Given the description of an element on the screen output the (x, y) to click on. 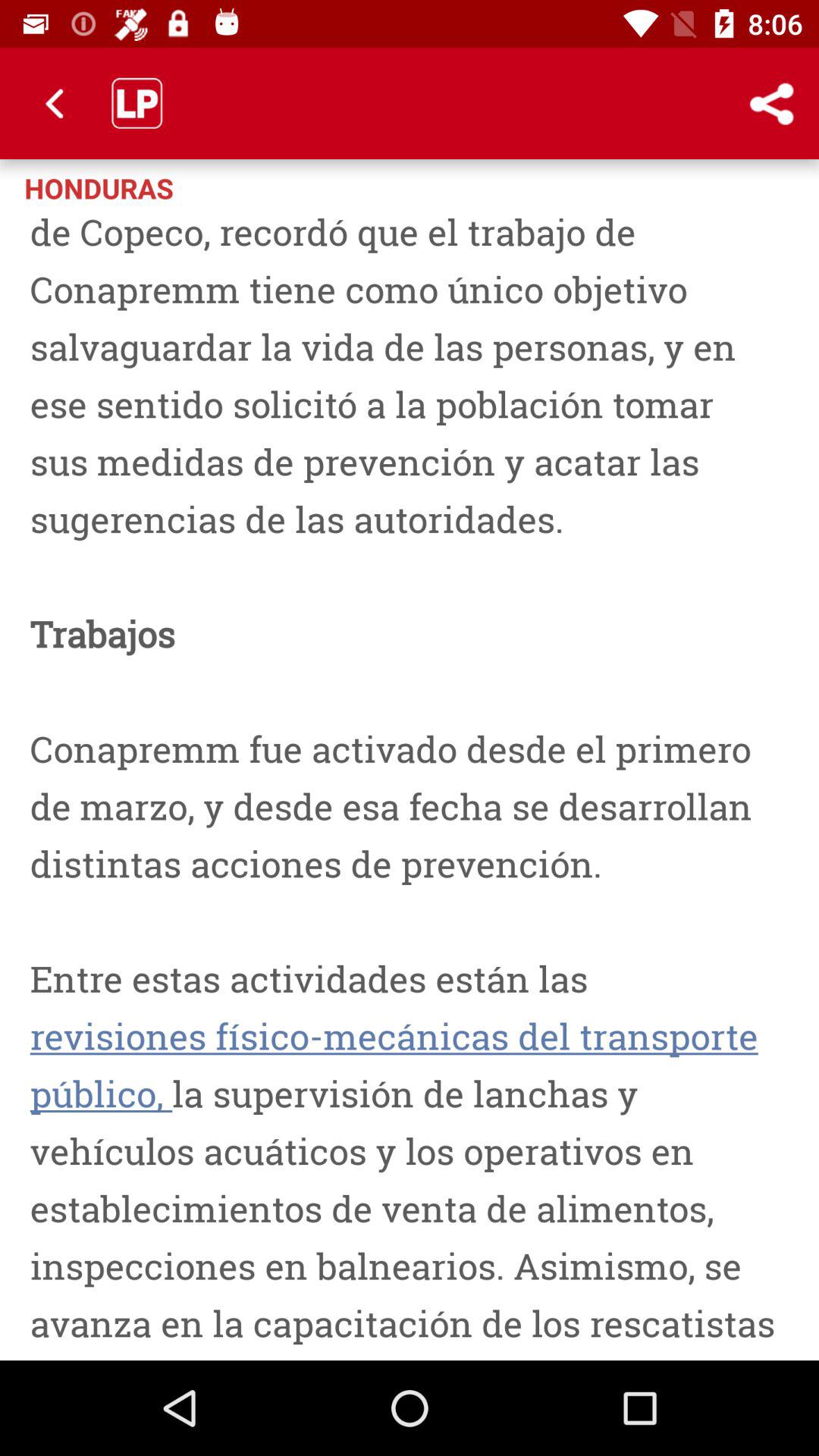
tap icon at the center (409, 782)
